Given the description of an element on the screen output the (x, y) to click on. 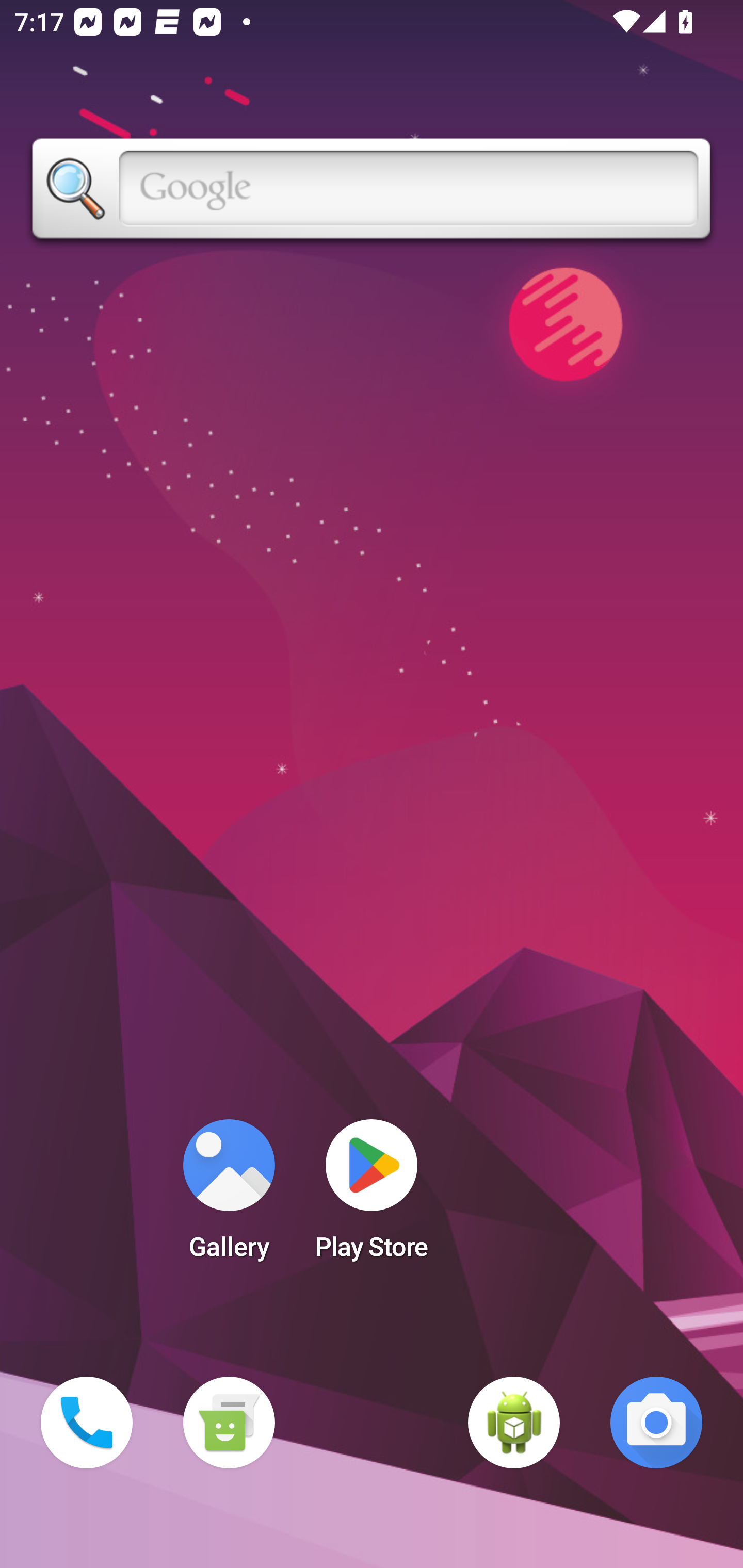
Gallery (228, 1195)
Play Store (371, 1195)
Phone (86, 1422)
Messaging (228, 1422)
WebView Browser Tester (513, 1422)
Camera (656, 1422)
